Given the description of an element on the screen output the (x, y) to click on. 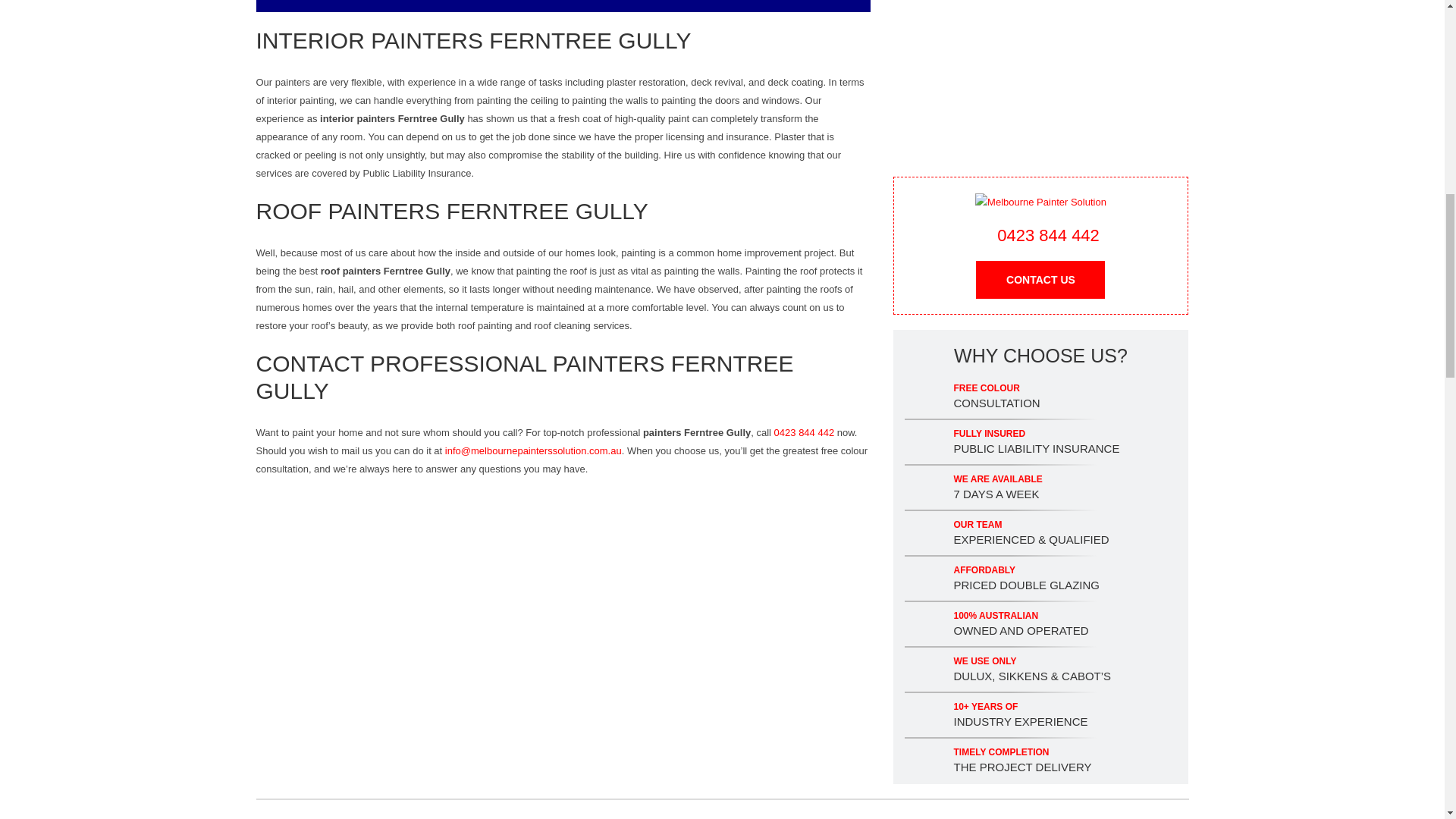
0423 844 442 (804, 432)
